Given the description of an element on the screen output the (x, y) to click on. 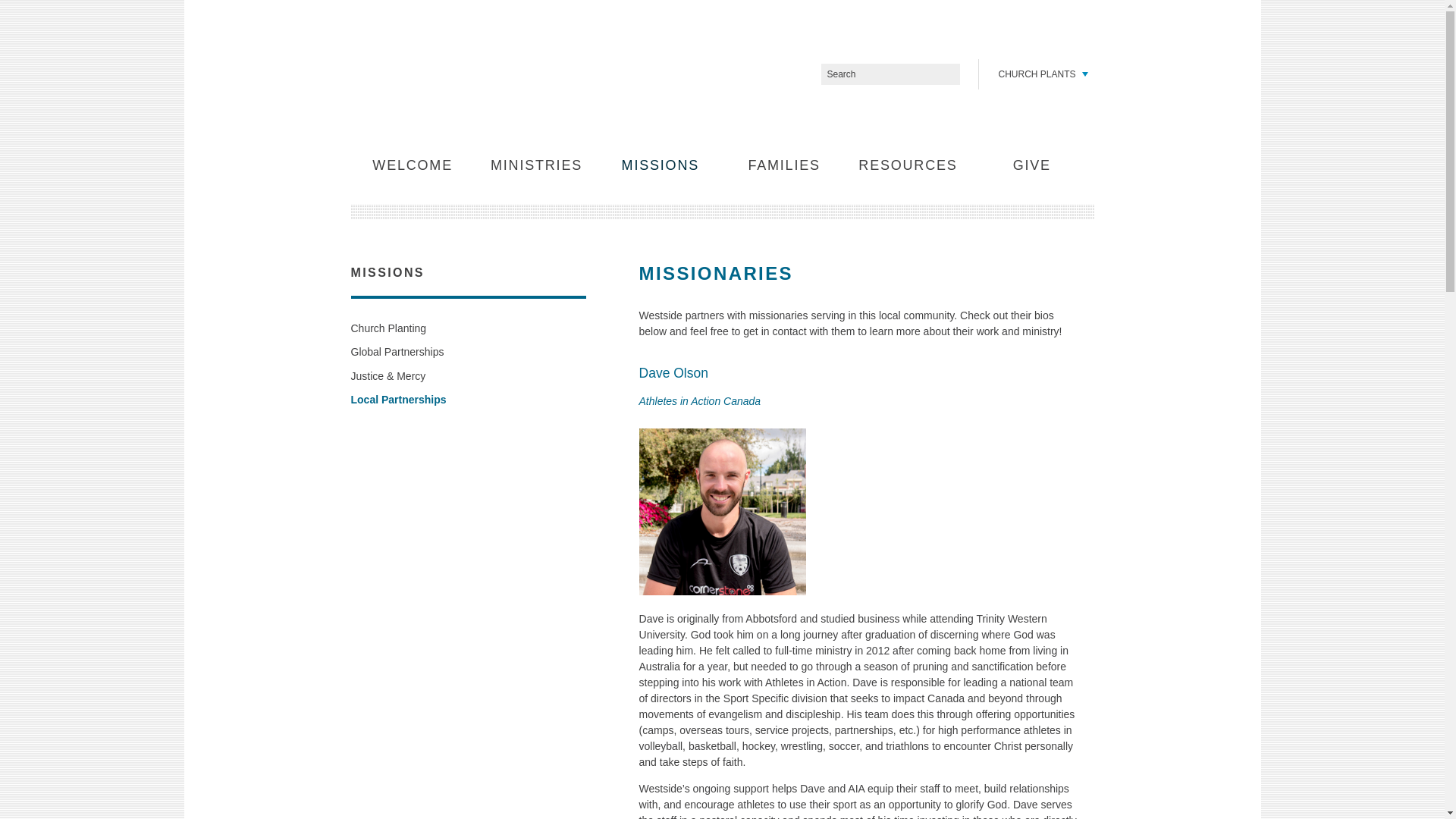
Westside Church (452, 72)
CHURCH PLANTS (1040, 73)
MINISTRIES (536, 165)
WELCOME (412, 165)
